Given the description of an element on the screen output the (x, y) to click on. 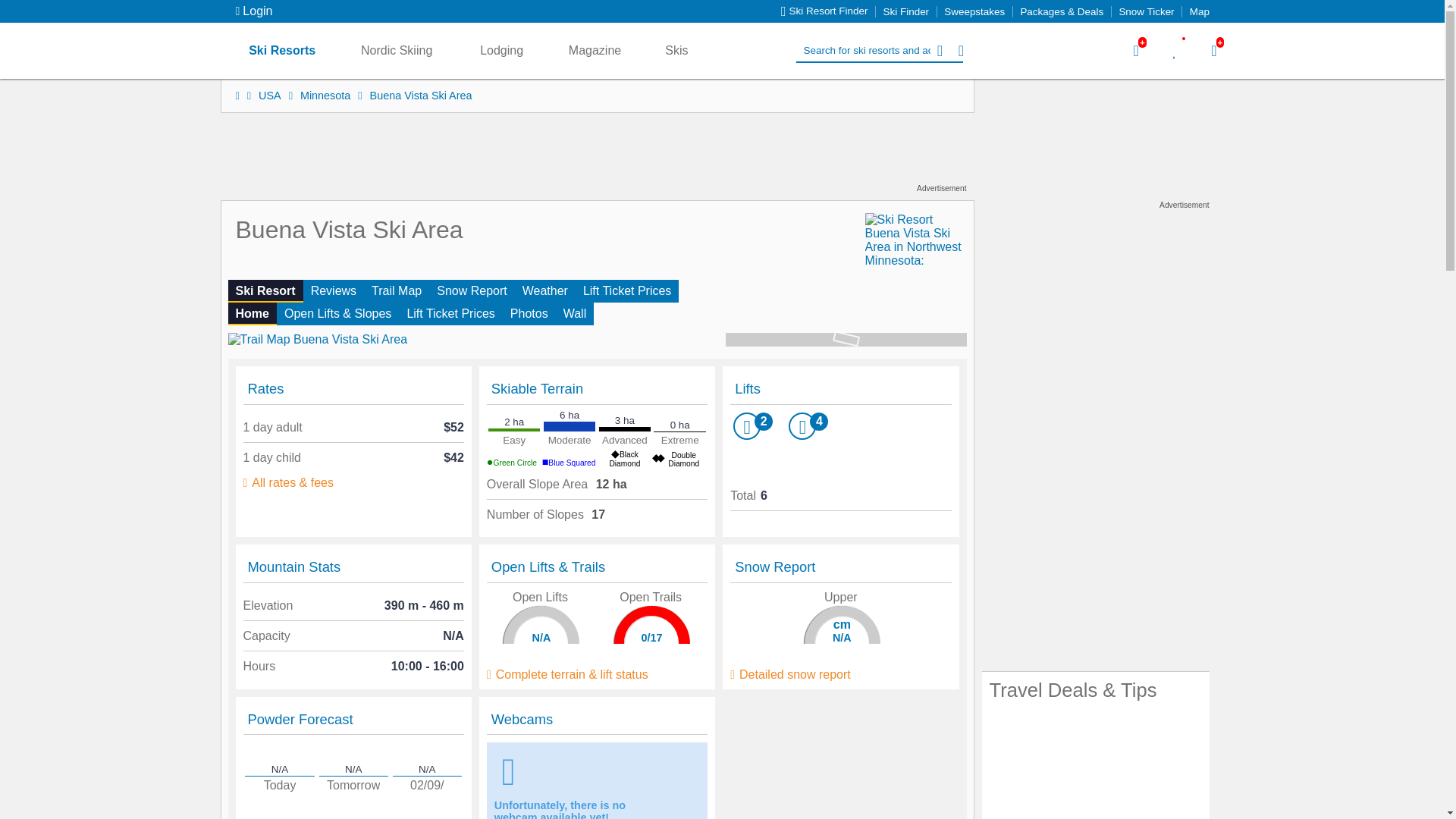
Minnesota (330, 95)
Ski Resorts USA (275, 95)
Trail Map (396, 291)
Photos (529, 313)
Lift Ticket Prices (626, 291)
Photos of Buena Vista Ski Area (529, 313)
Trail Map Buena Vista Ski Area (337, 313)
Lift Ticket Prices (450, 313)
Trail Map Buena Vista Ski Area (396, 291)
Snow Report Buena Vista Ski Area (472, 291)
